Given the description of an element on the screen output the (x, y) to click on. 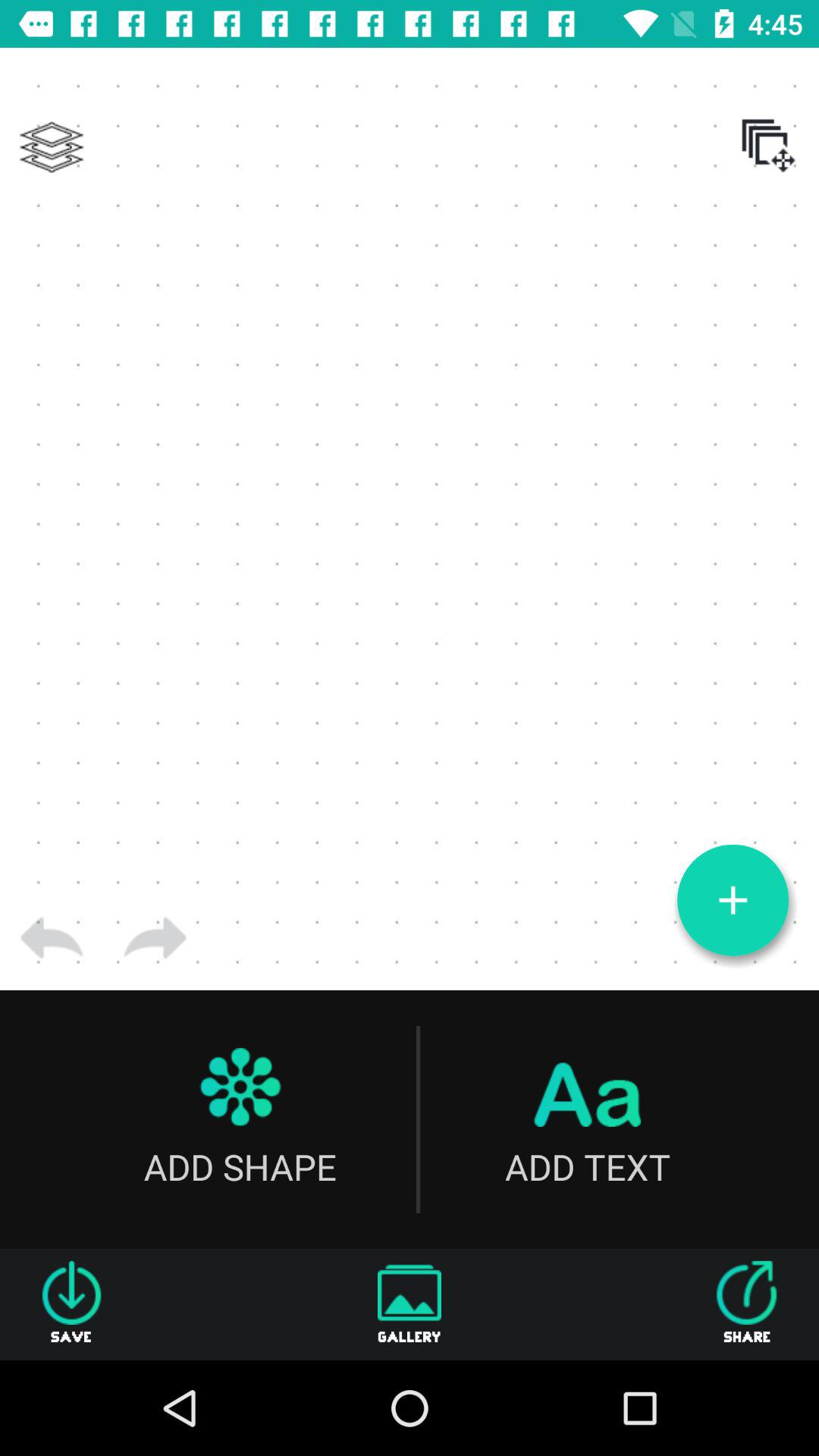
turn off the icon above the add text icon (733, 900)
